Given the description of an element on the screen output the (x, y) to click on. 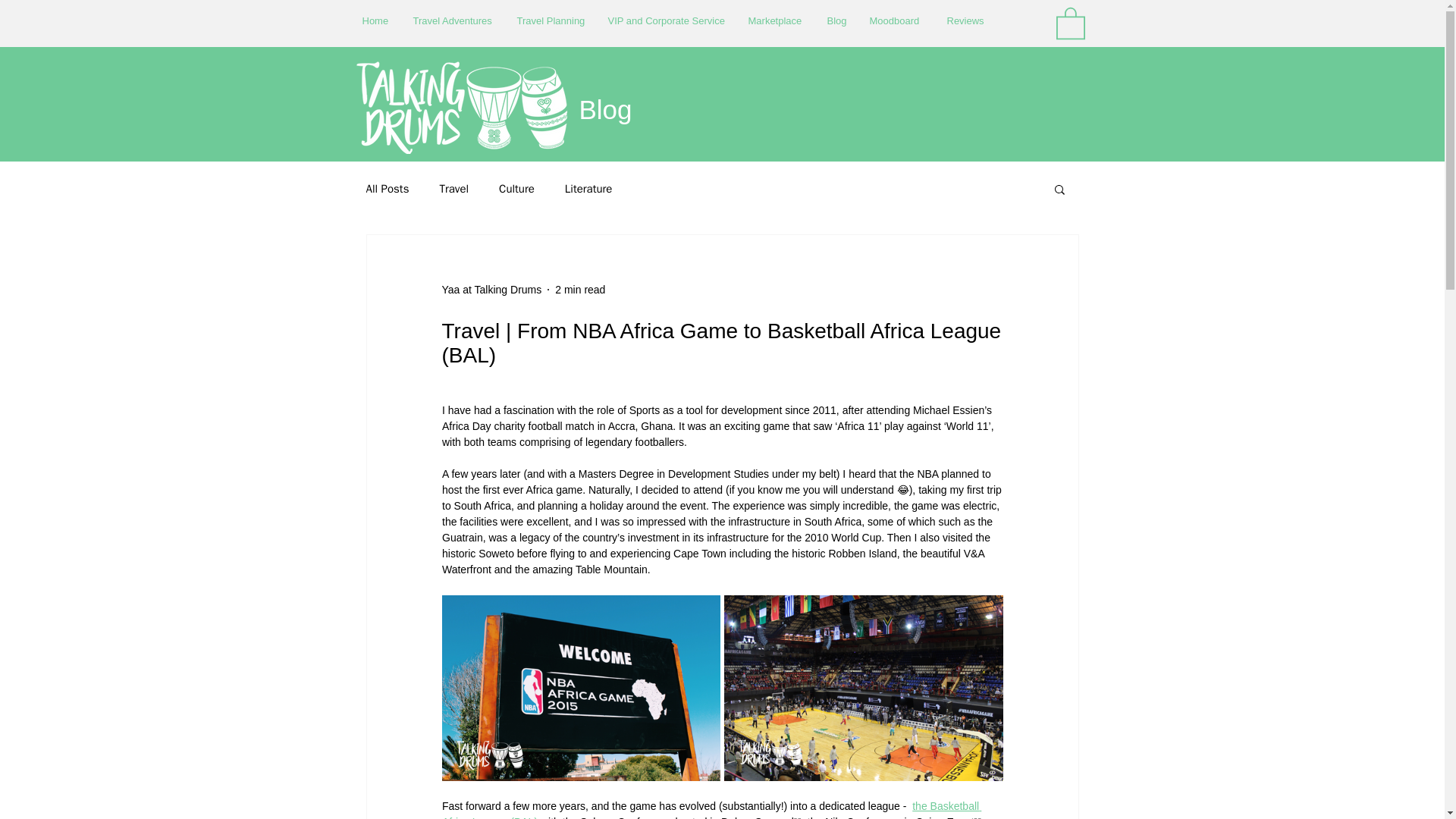
Blog (837, 20)
Reviews (965, 20)
Yaa at Talking Drums (491, 289)
Culture (516, 188)
Moodboard (897, 20)
2 min read (579, 289)
All Posts (387, 188)
Home (375, 20)
Literature (588, 188)
VIP and Corporate Service (665, 20)
